Given the description of an element on the screen output the (x, y) to click on. 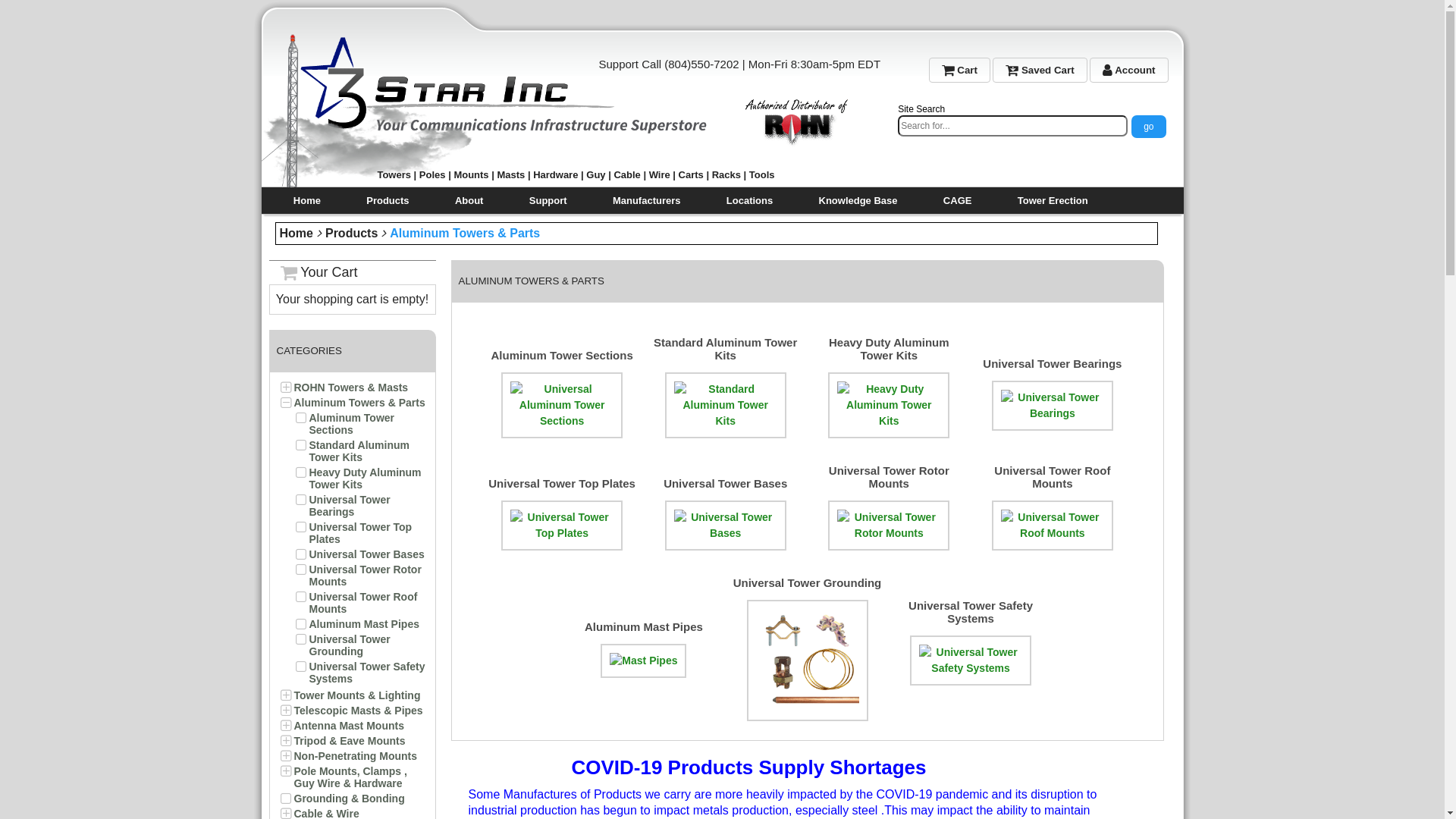
CAGE Element type: text (957, 200)
Pole Mounts, Clamps , Guy Wire & Hardware Element type: text (350, 777)
Universal Tower Top Plates Element type: text (360, 532)
Universal Tower Safety Systems Element type: text (970, 611)
Universal Tower Bearings Element type: text (349, 505)
Universal Tower Top Plates Element type: text (561, 482)
Non-Penetrating Mounts Element type: text (355, 755)
Standard Aluminum Tower Kits Element type: text (724, 348)
Tower Mounts & Lighting Element type: text (357, 695)
Universal Tower Roof Mounts Element type: text (1051, 476)
Account Element type: text (1128, 69)
Aluminum Tower Sections Element type: text (352, 423)
Telescopic Masts & Pipes Element type: text (358, 710)
Universal Tower Rotor Mounts Element type: text (888, 476)
Aluminum Towers & Parts Element type: text (464, 232)
Universal Tower Grounding Element type: text (807, 582)
Support Element type: text (547, 200)
Home Element type: text (306, 200)
Universal Tower Grounding Element type: text (349, 645)
Products Element type: text (351, 232)
About Element type: text (469, 200)
Aluminum Tower Sections Element type: text (562, 354)
Universal Tower Roof Mounts Element type: text (363, 602)
Universal Tower Bearings Element type: text (1051, 362)
Heavy Duty Aluminum Tower Kits Element type: text (888, 348)
Manufacturers Element type: text (646, 200)
Locations Element type: text (749, 200)
Grounding & Bonding Element type: text (349, 798)
Saved Cart Element type: text (1039, 69)
Aluminum Mast Pipes Element type: text (643, 626)
Products Element type: text (387, 200)
Heavy Duty Aluminum Tower Kits Element type: text (365, 478)
ROHN Towers & Masts Element type: text (351, 387)
Universal Tower Bases Element type: text (725, 482)
Knowledge Base Element type: text (858, 200)
Universal Tower Safety Systems Element type: text (367, 672)
Home Element type: text (295, 232)
Universal Tower Bases Element type: text (366, 554)
Tower Erection Element type: text (1052, 200)
Tripod & Eave Mounts Element type: text (349, 740)
Cart Element type: text (959, 69)
Universal Tower Rotor Mounts Element type: text (365, 575)
Antenna Mast Mounts Element type: text (349, 725)
3 Star Incorporated Element type: hover (563, 110)
Standard Aluminum Tower Kits Element type: text (359, 451)
Aluminum Mast Pipes Element type: text (364, 624)
go Element type: text (1148, 126)
Aluminum Towers & Parts Element type: text (359, 402)
